Given the description of an element on the screen output the (x, y) to click on. 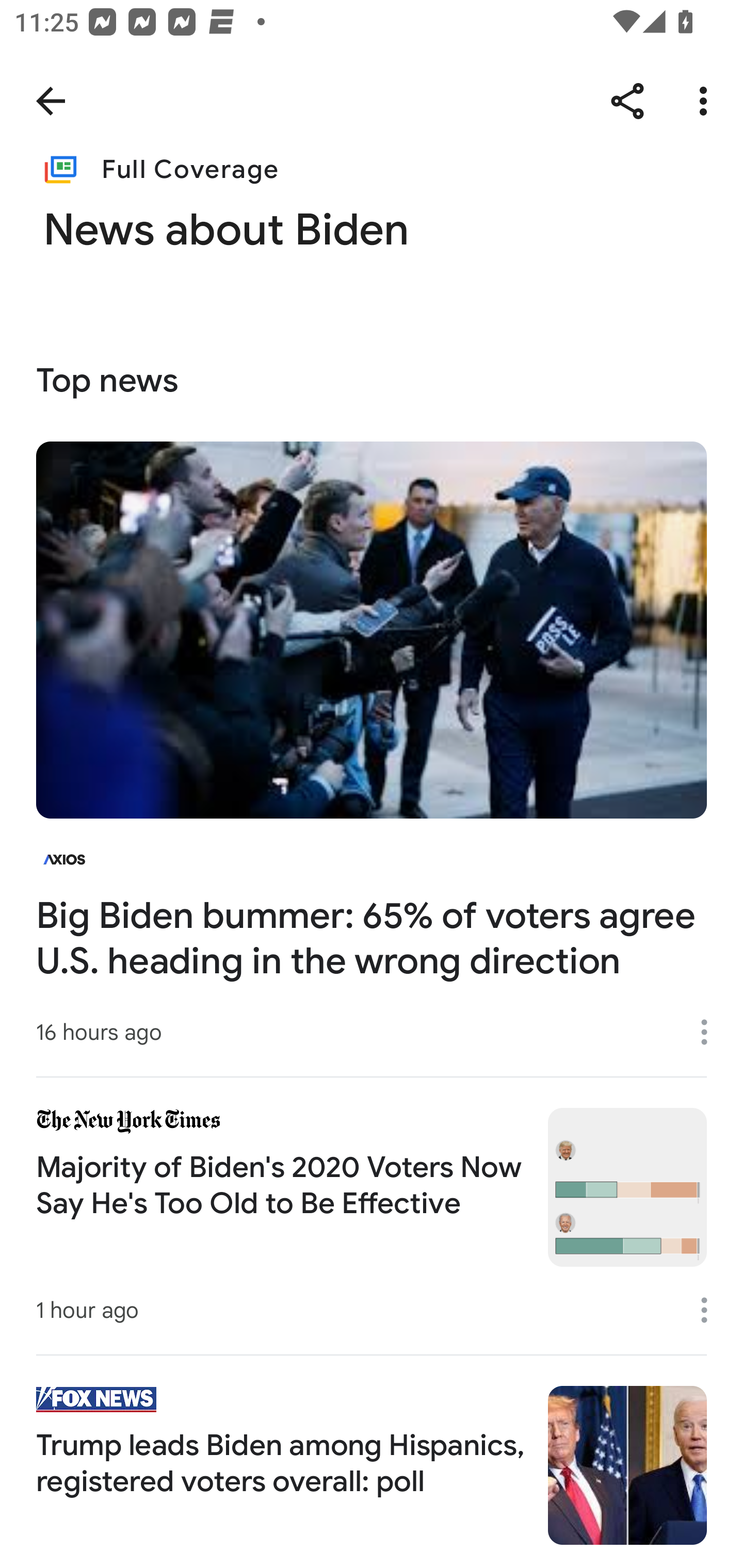
Navigate up (50, 101)
Share (626, 101)
More options (706, 101)
More options (711, 1032)
More options (711, 1309)
